Given the description of an element on the screen output the (x, y) to click on. 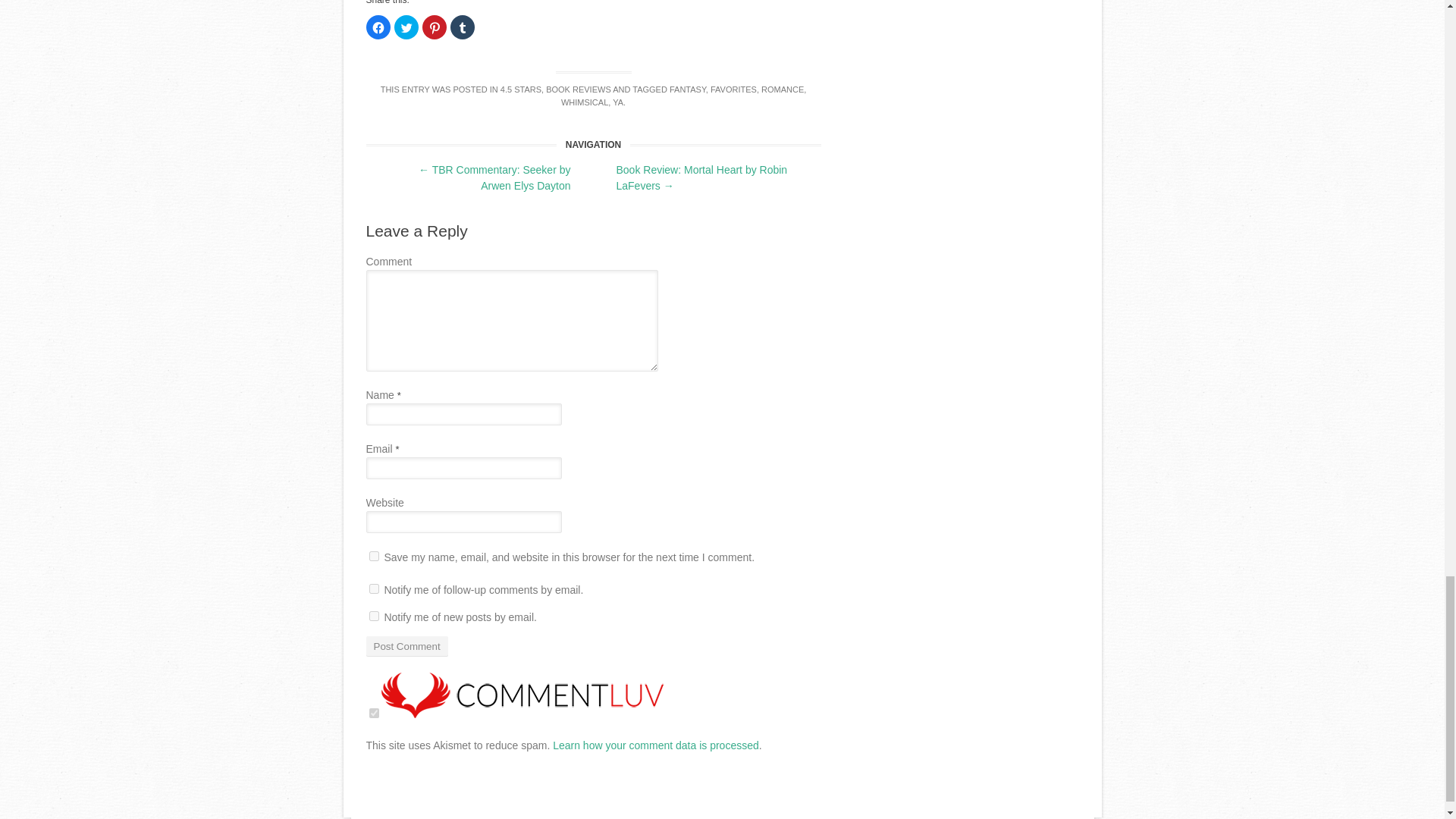
Click to share on Facebook (377, 27)
on (373, 713)
FANTASY (687, 89)
4.5 STARS (520, 89)
Click to share on Tumblr (461, 27)
Click to share on Pinterest (433, 27)
BOOK REVIEWS (578, 89)
Click to share on Twitter (406, 27)
Post Comment (405, 646)
subscribe (373, 588)
